Given the description of an element on the screen output the (x, y) to click on. 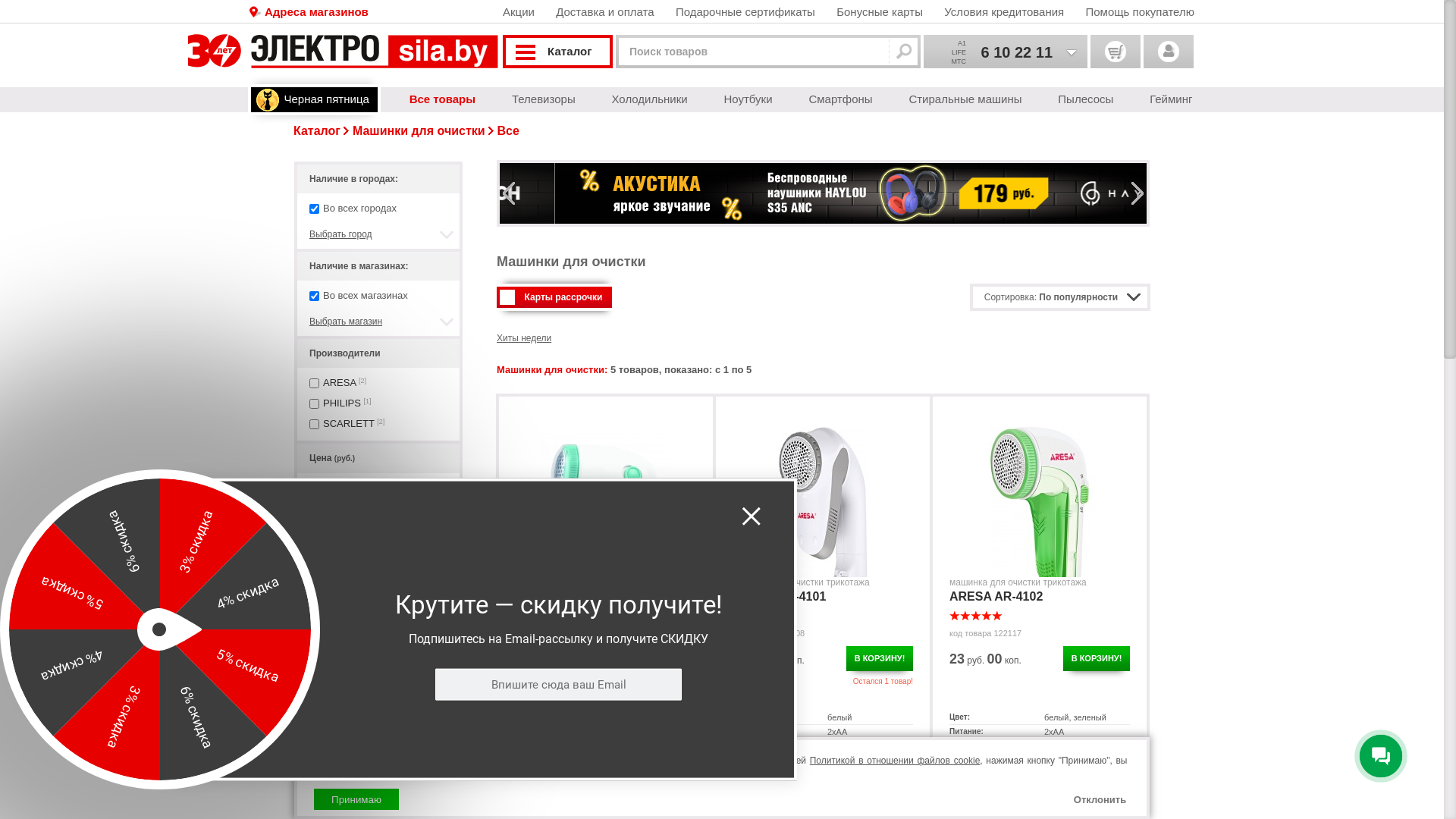
ARESA Element type: text (339, 382)
PHILIPS Element type: text (341, 402)
SCARLETT Element type: text (348, 423)
